Given the description of an element on the screen output the (x, y) to click on. 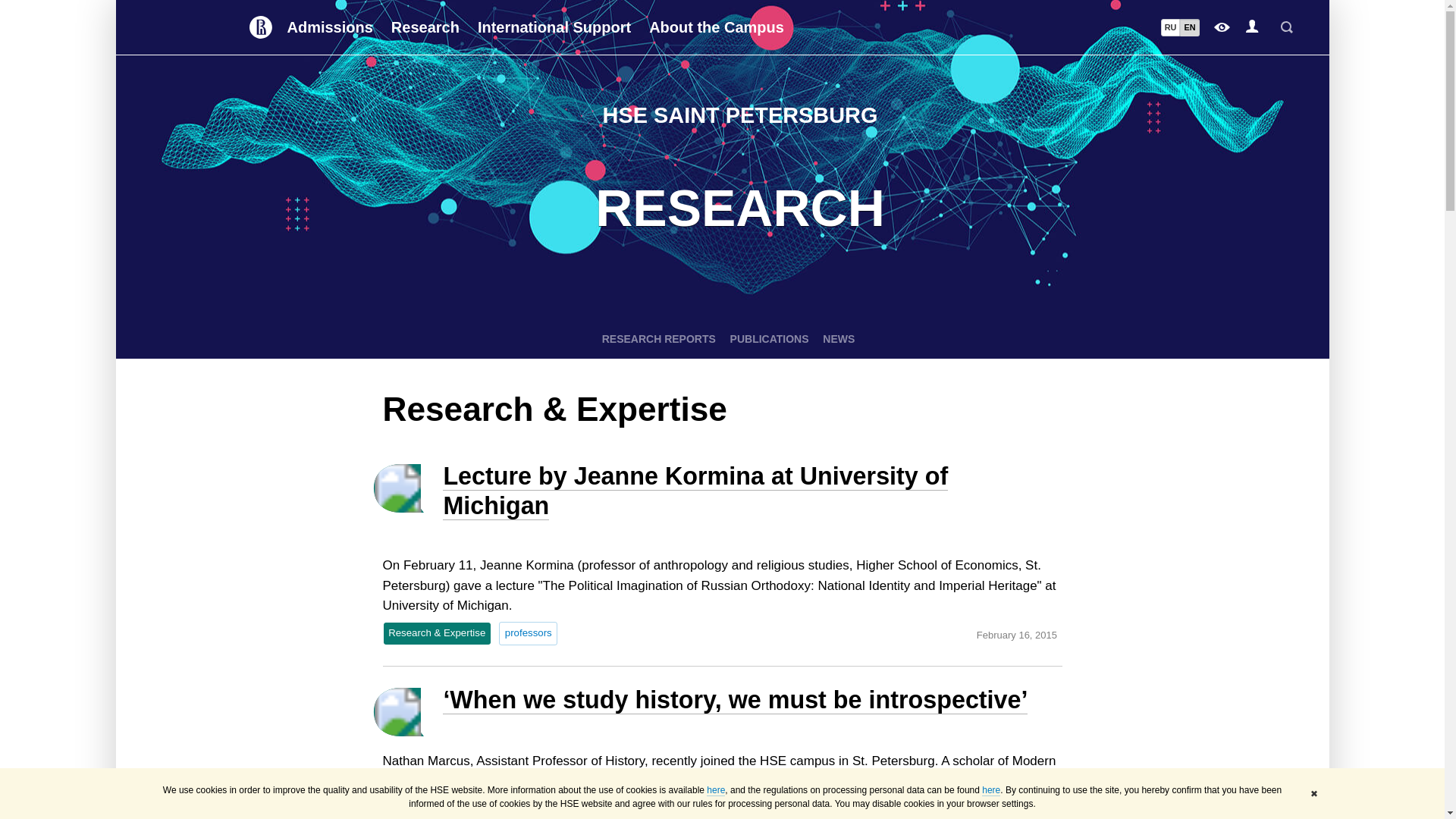
Lecture by Jeanne Kormina at University of Michigan (694, 491)
here (715, 790)
About the Campus (716, 27)
Research (425, 27)
Search (1286, 27)
professors (528, 632)
International Support (553, 27)
here (990, 790)
Admissions (329, 27)
